Given the description of an element on the screen output the (x, y) to click on. 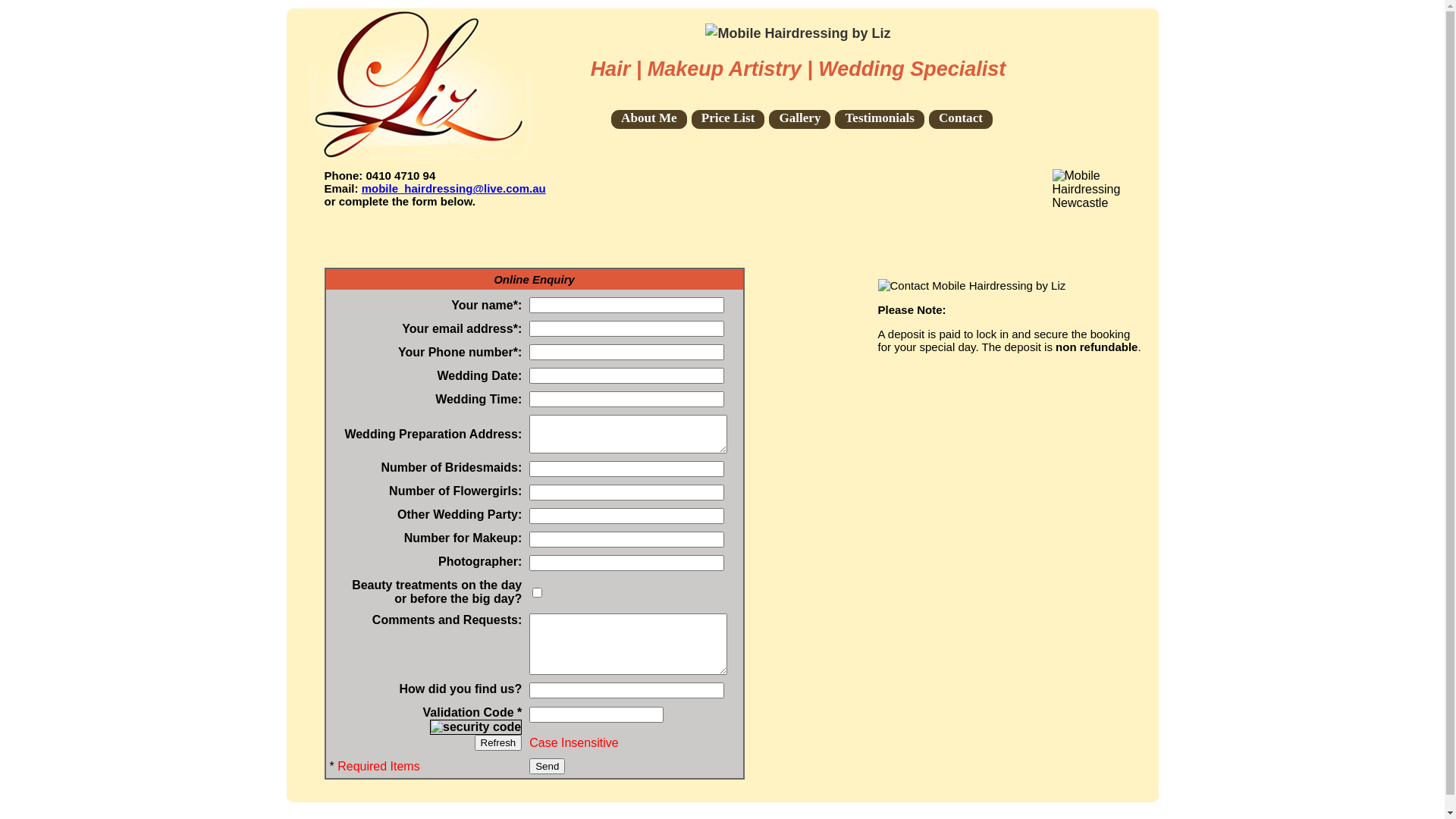
About Me Element type: text (649, 118)
mobile_hairdressing@live.com.au Element type: text (453, 188)
Send Element type: text (546, 766)
Gallery Element type: text (799, 118)
Price List Element type: text (728, 118)
Refresh Element type: text (498, 742)
Testimonials Element type: text (879, 118)
Contact Element type: text (960, 118)
